Given the description of an element on the screen output the (x, y) to click on. 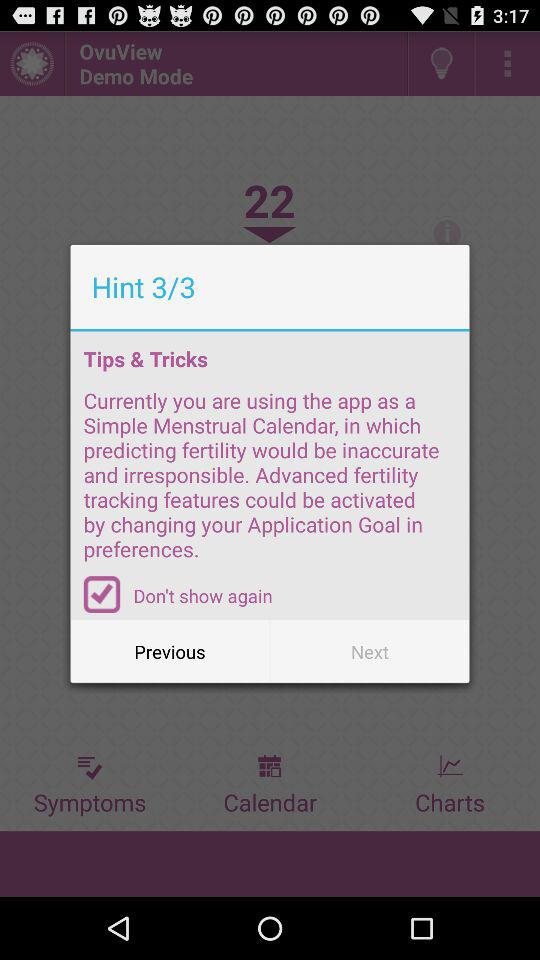
scroll until the next item (369, 651)
